Given the description of an element on the screen output the (x, y) to click on. 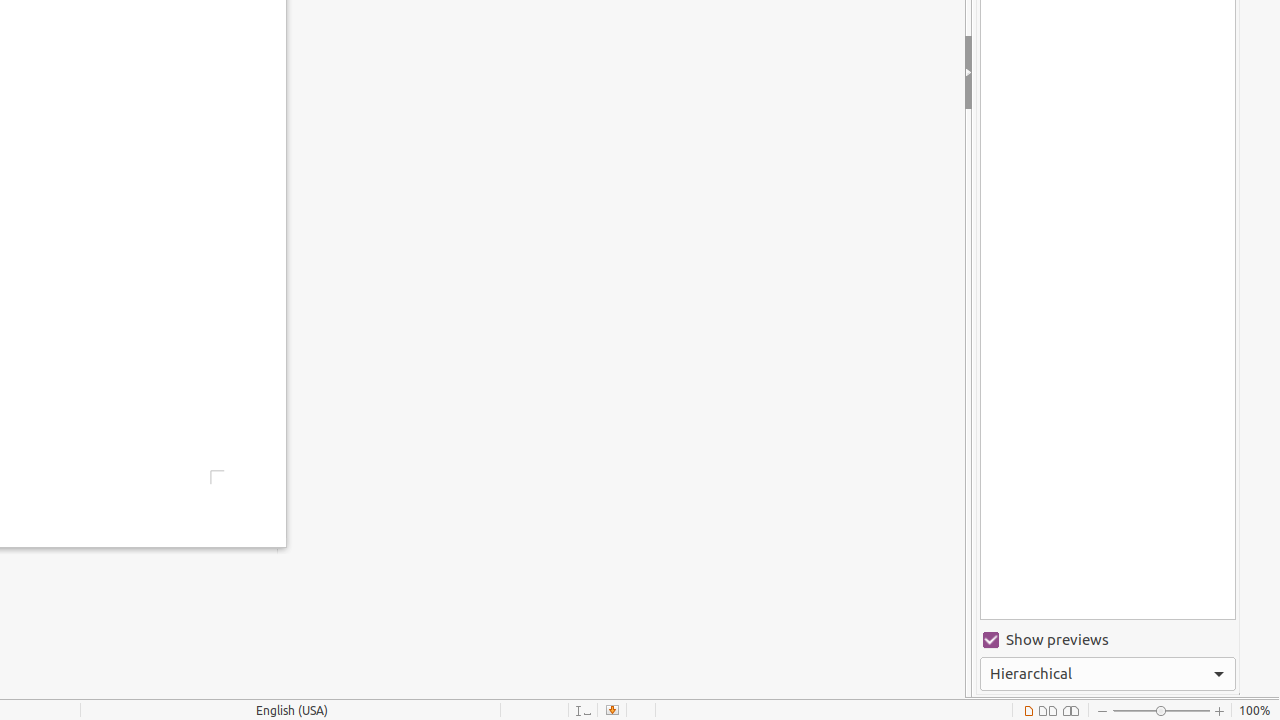
Show previews Element type: check-box (1108, 640)
